Given the description of an element on the screen output the (x, y) to click on. 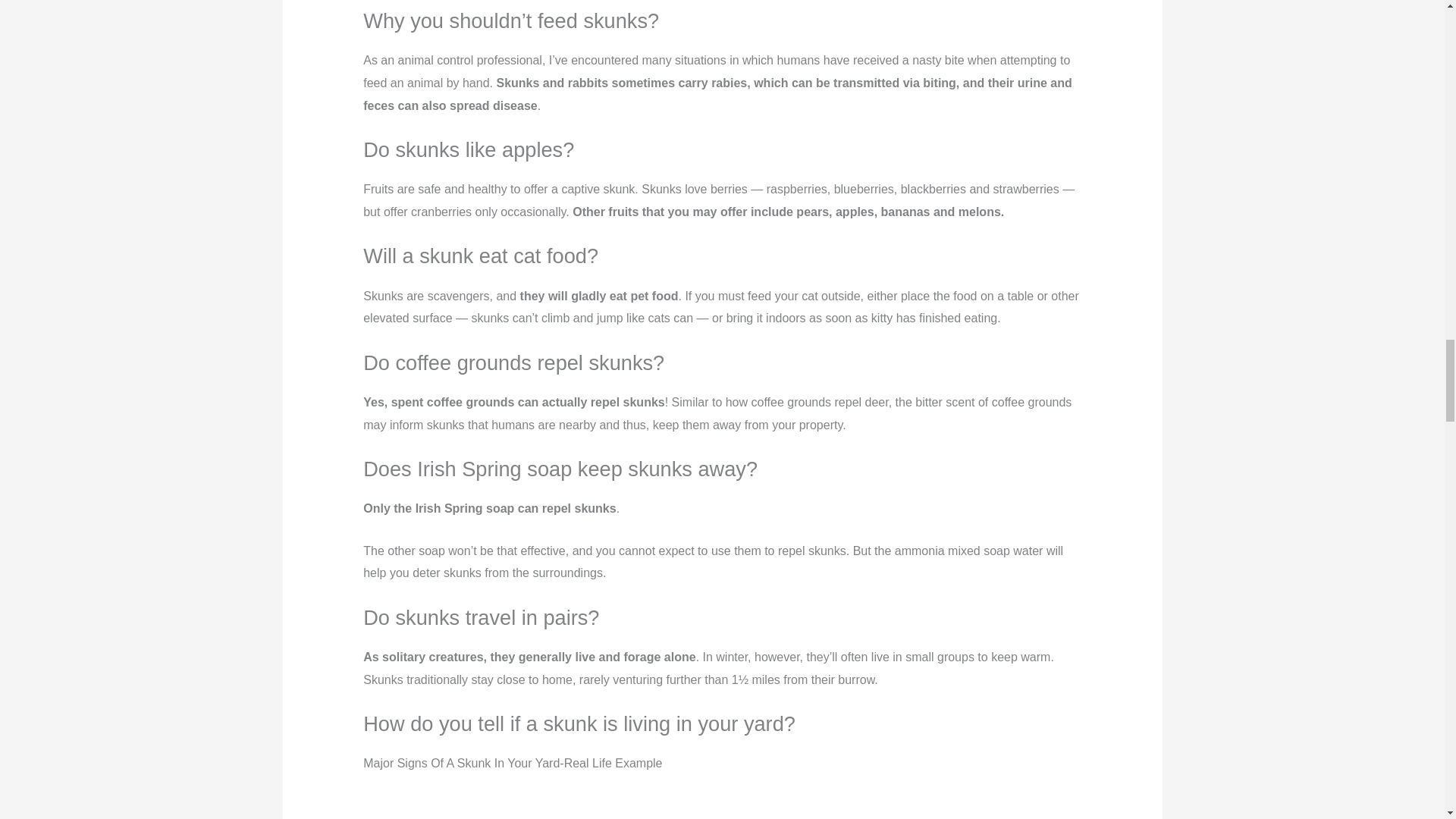
Major Signs Of A Skunk In Your Yard-Real Life Example (721, 806)
